Given the description of an element on the screen output the (x, y) to click on. 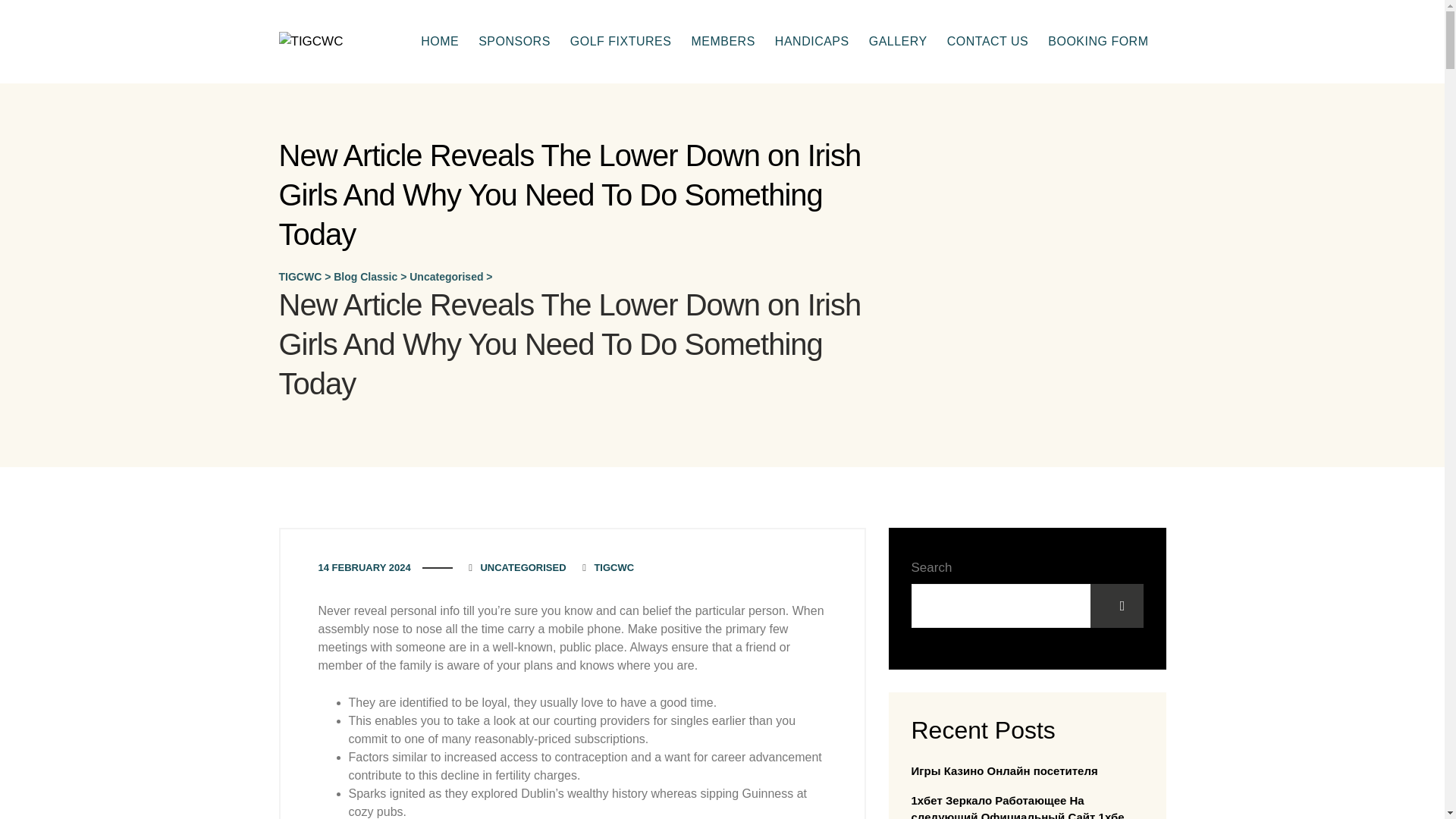
GOLF FIXTURES (620, 41)
HANDICAPS (811, 41)
BOOKING FORM (1098, 41)
UNCATEGORISED (523, 567)
TIGCWC (300, 276)
Uncategorised (446, 276)
Posted by tigcwc (606, 567)
TIGCWC (311, 41)
Blog Classic (365, 276)
Search (1116, 605)
